Given the description of an element on the screen output the (x, y) to click on. 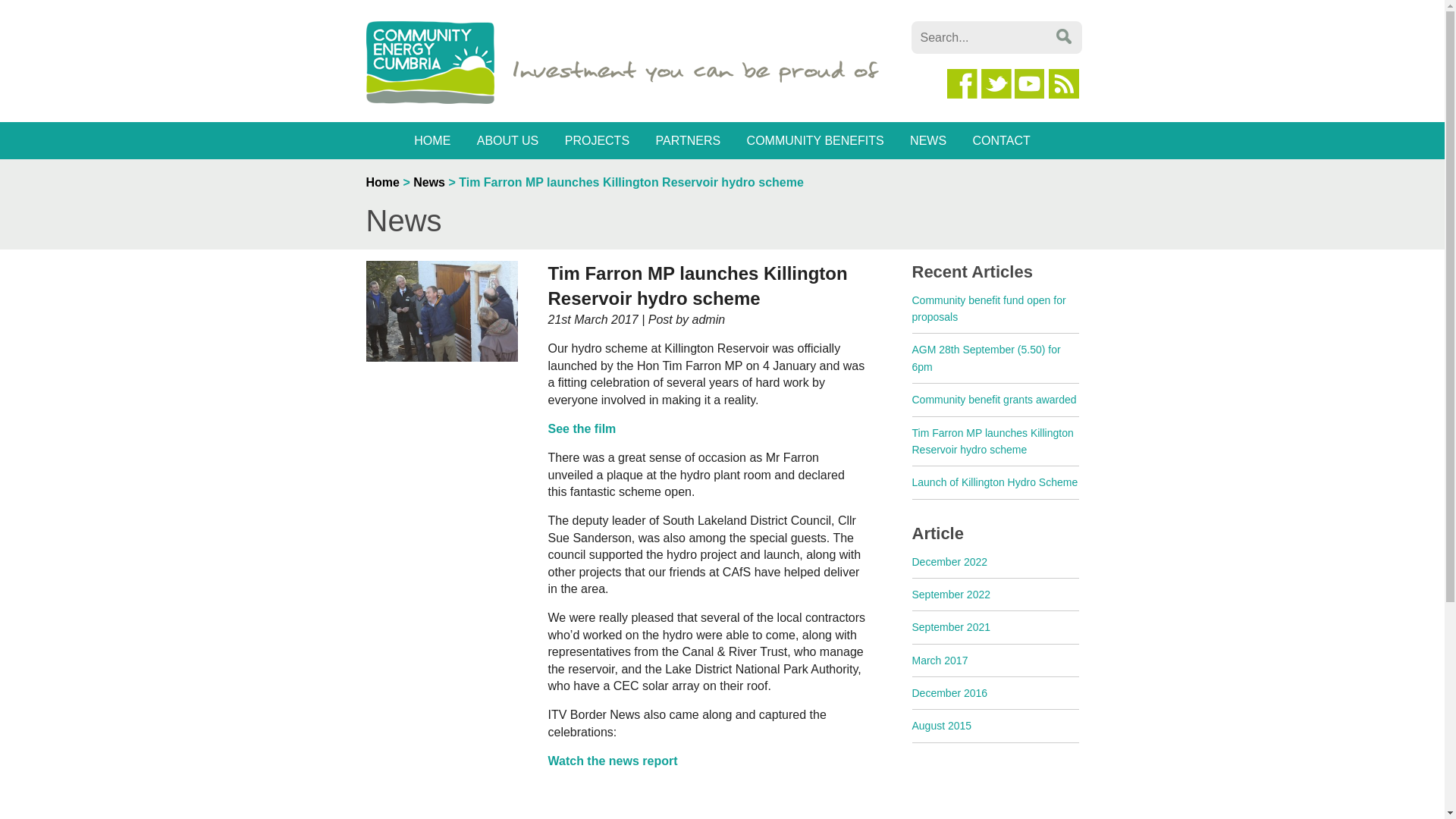
Launch of Killington Hydro Scheme (994, 481)
HOME (432, 140)
CONTACT (1001, 140)
September 2022 (950, 594)
COMMUNITY BENEFITS (815, 140)
ABOUT US (507, 140)
NEWS (928, 140)
Watch the news report (612, 760)
December 2022 (949, 561)
December 2016 (949, 693)
